Given the description of an element on the screen output the (x, y) to click on. 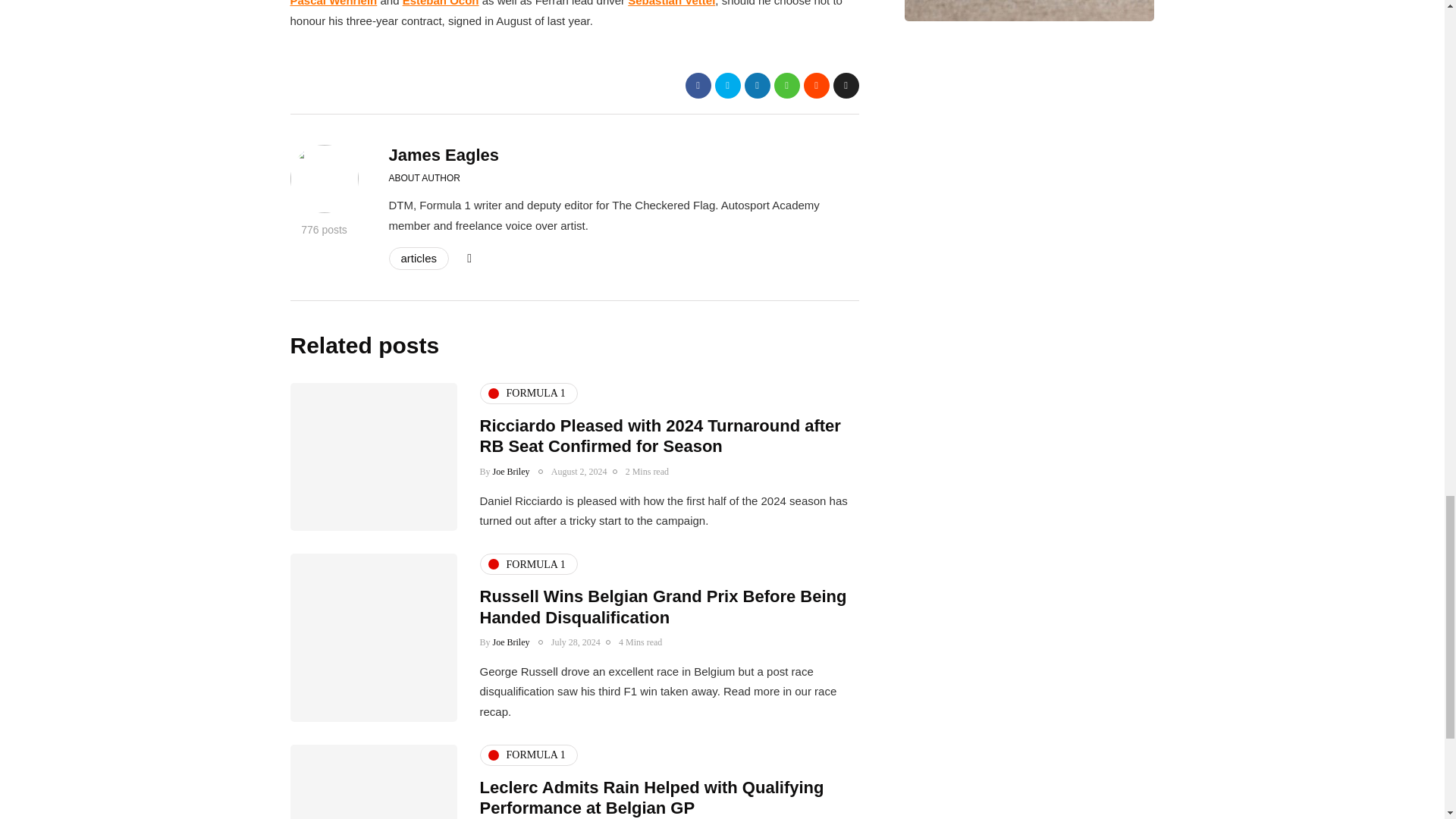
Share by Email (845, 85)
Share with Facebook (698, 85)
Share to WhatsApp (786, 85)
Share on Reddit (816, 85)
Share with LinkedIn (757, 85)
Tweet this (726, 85)
Page 2 (574, 15)
